Given the description of an element on the screen output the (x, y) to click on. 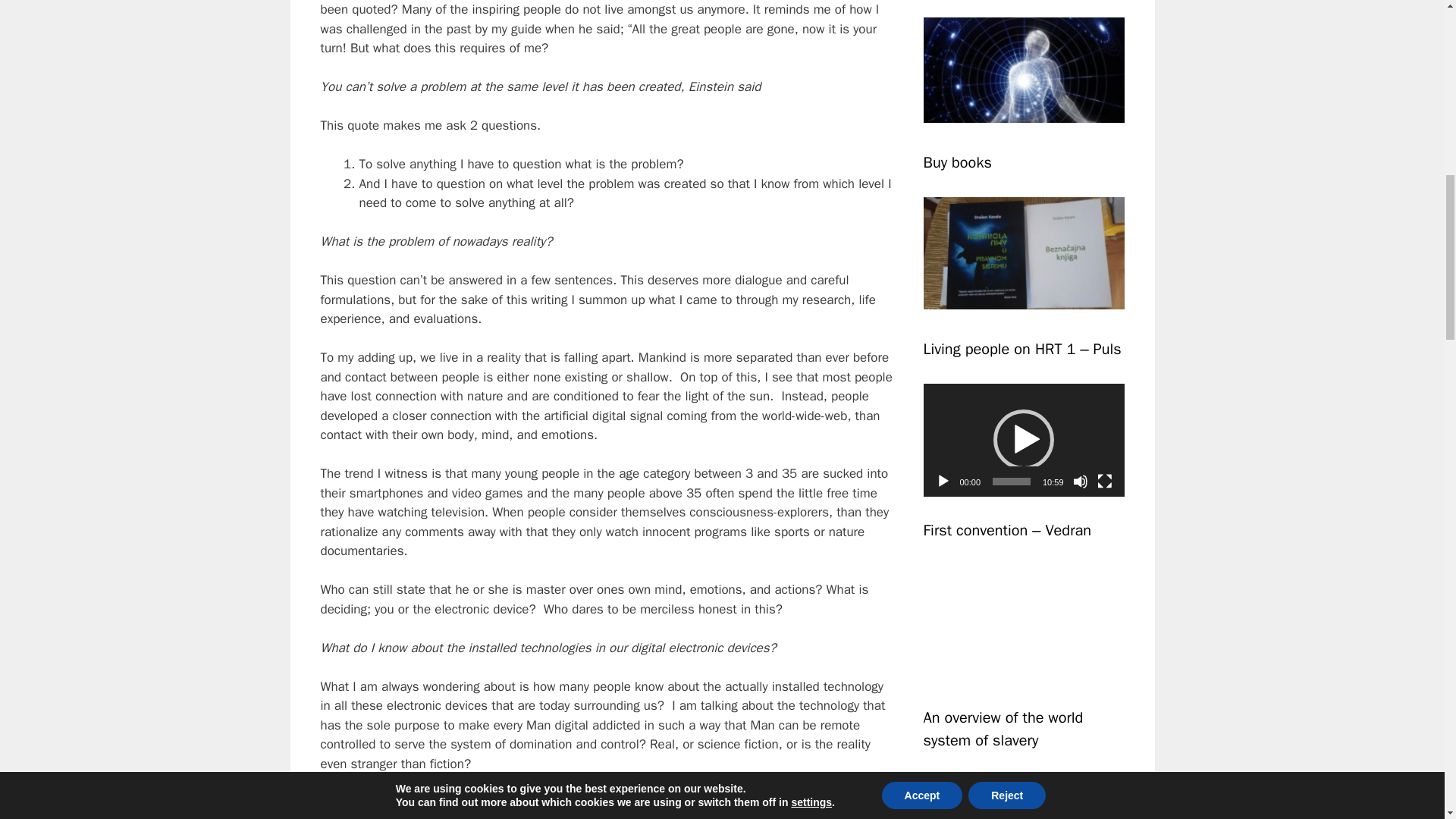
Fullscreen (1104, 481)
Mute (1079, 481)
Play (943, 481)
